Given the description of an element on the screen output the (x, y) to click on. 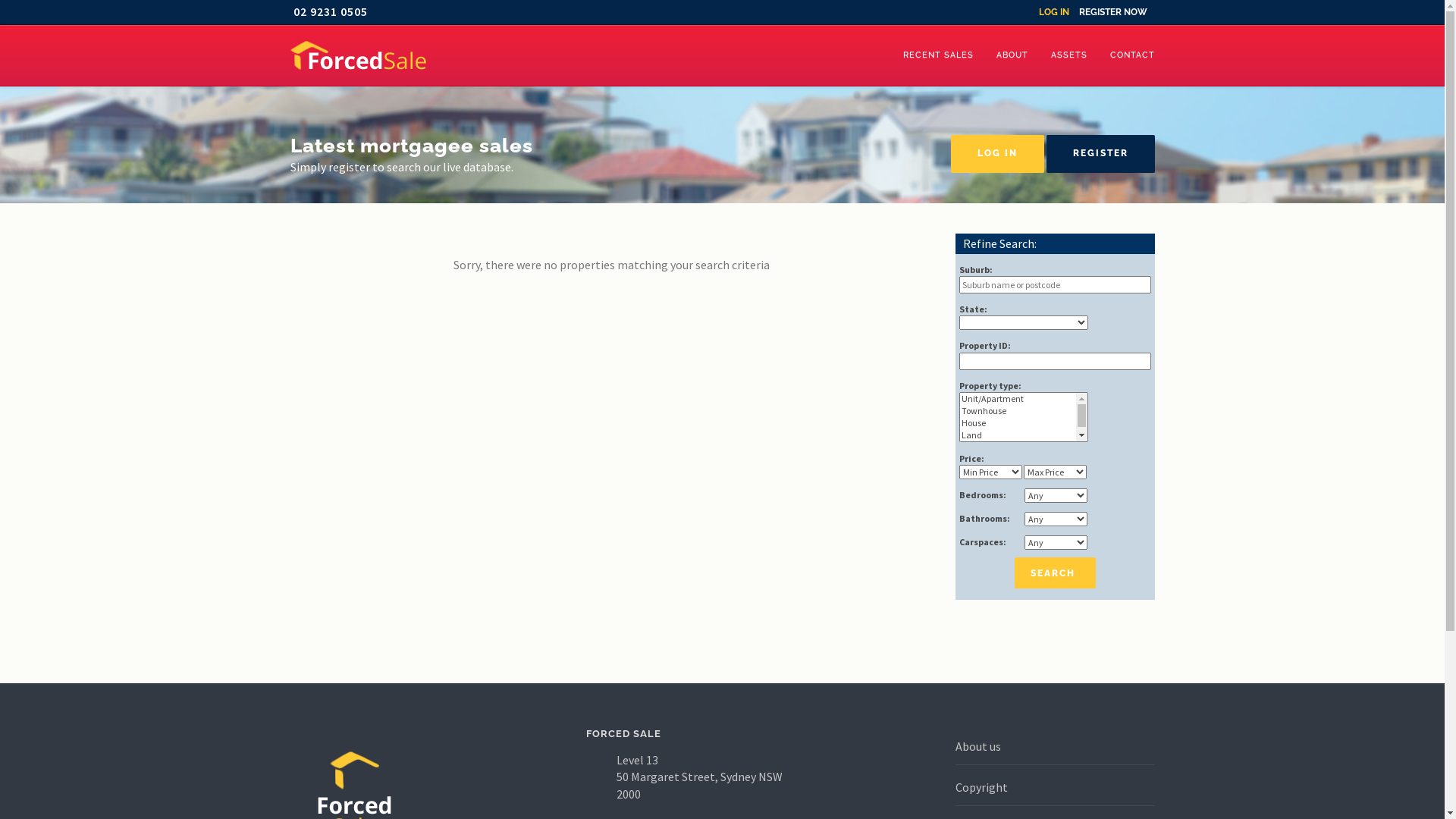
REGISTER Element type: text (1100, 153)
LOG IN Element type: text (1053, 11)
About us Element type: text (978, 745)
REGISTER NOW Element type: text (1112, 11)
Copyright Element type: text (981, 786)
SEARCH Element type: text (1054, 572)
ASSETS Element type: text (1068, 55)
CONTACT Element type: text (1131, 55)
ABOUT Element type: text (1011, 55)
RECENT SALES Element type: text (938, 55)
LOG IN Element type: text (997, 153)
